Given the description of an element on the screen output the (x, y) to click on. 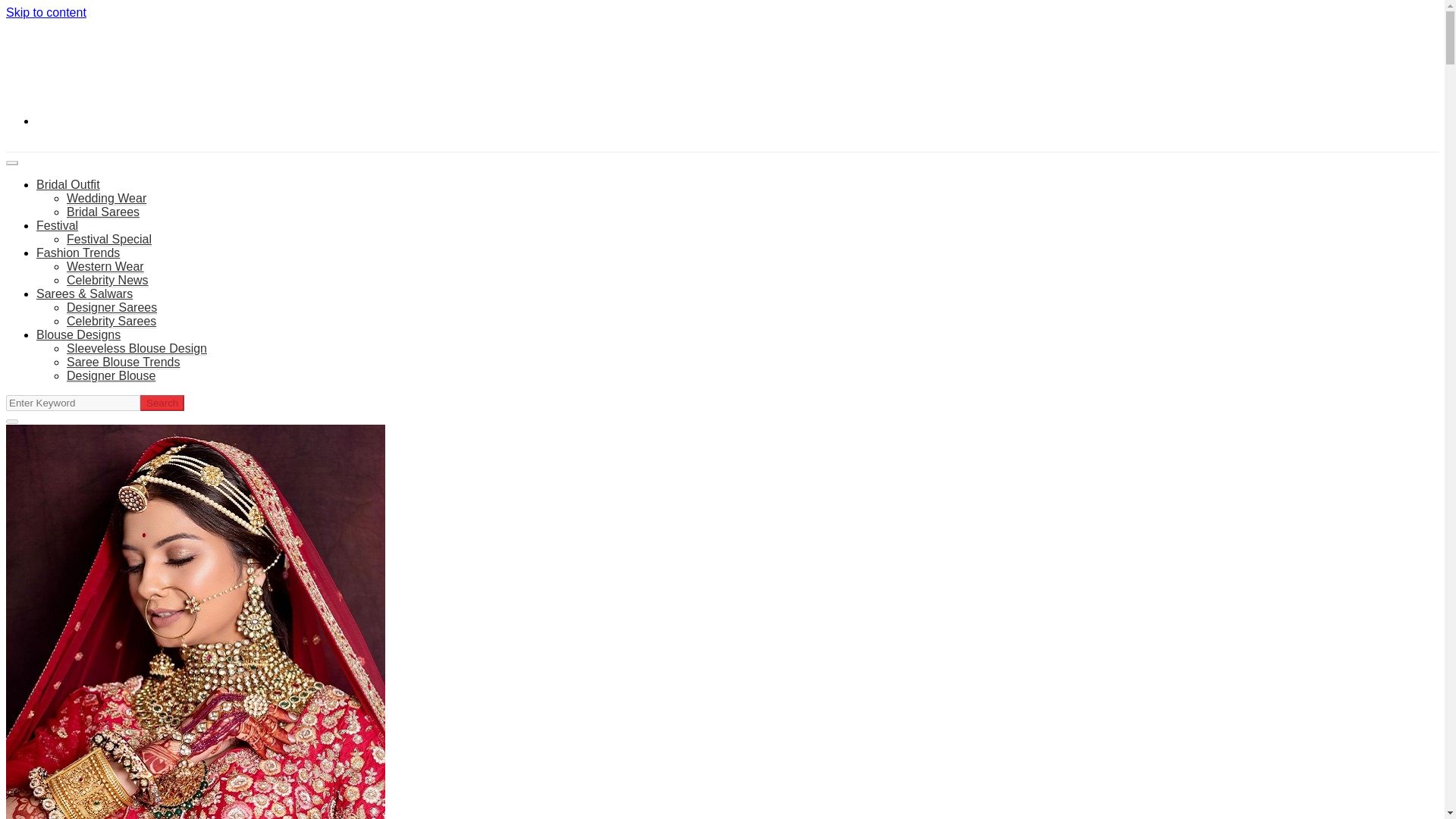
Sleeveless Blouse Design (136, 348)
Fashion Trends (77, 252)
Designer Blouse (110, 376)
Bridal Outfit (68, 184)
Wedding Wear (106, 198)
Festival Special (108, 239)
Skip to content (45, 11)
Bridal Sarees (102, 212)
Western Wear (105, 266)
Festival (57, 225)
Search (161, 402)
Blouse Designs (78, 334)
Celebrity Sarees (110, 321)
Saree Blouse Trends (122, 362)
Celebrity News (107, 280)
